Given the description of an element on the screen output the (x, y) to click on. 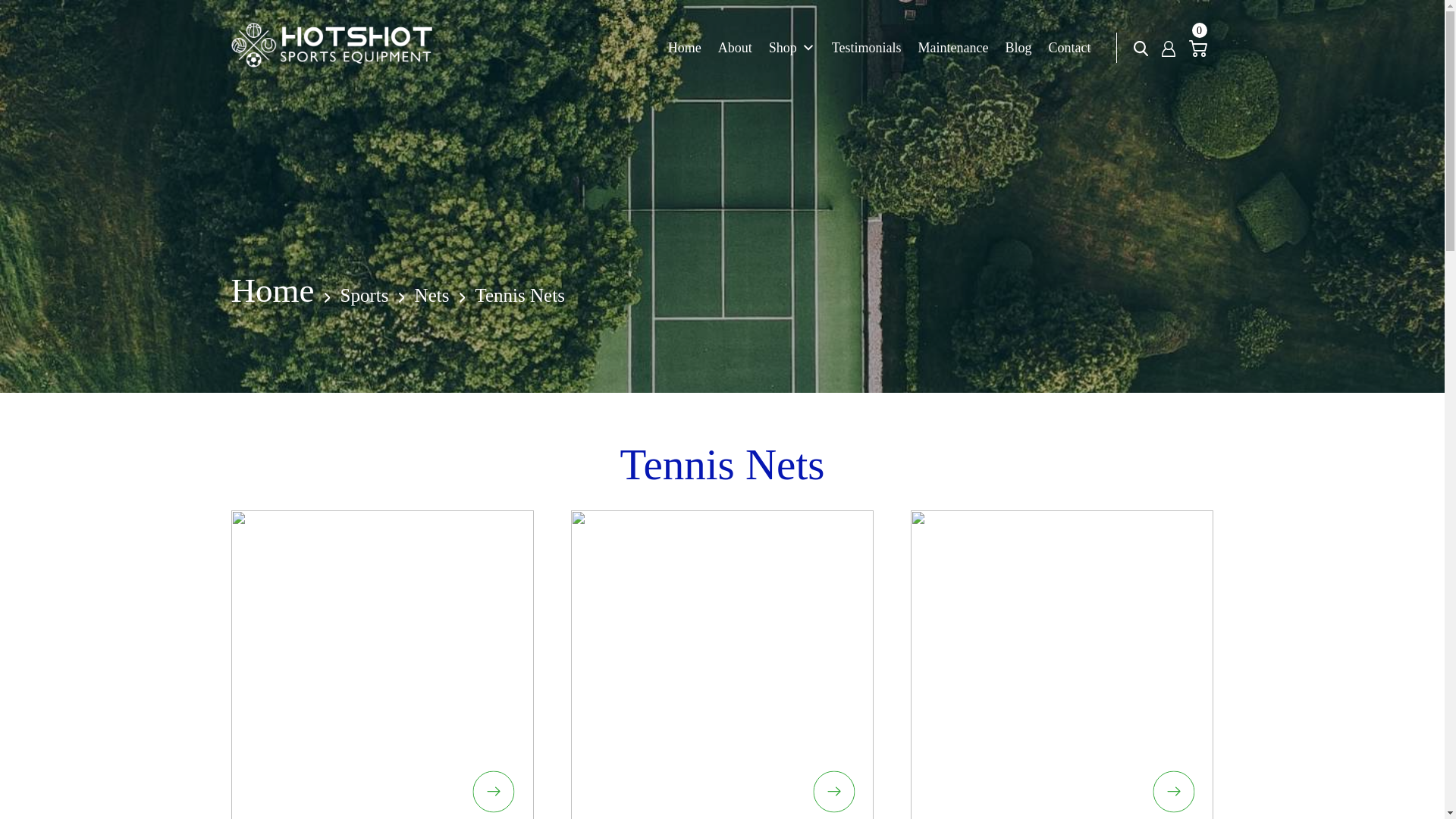
Sports (364, 295)
Contact (1069, 47)
Home (684, 47)
Maintenance (953, 47)
Home (272, 290)
0 (1198, 46)
About (734, 47)
Testimonials (866, 47)
Shop (791, 47)
